Given the description of an element on the screen output the (x, y) to click on. 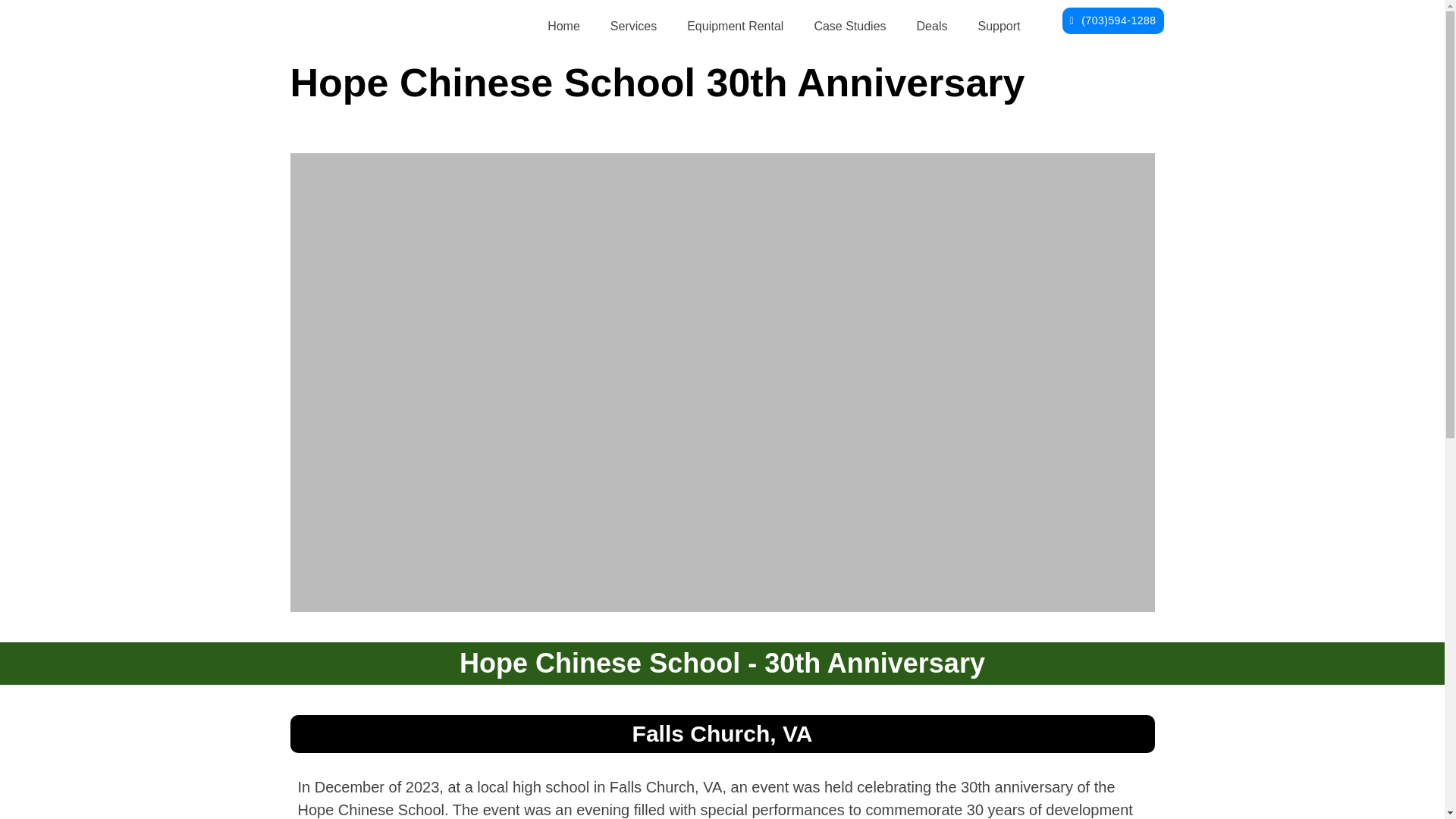
Equipment Rental (734, 26)
Home (563, 26)
Case Studies (849, 26)
Services (633, 26)
Deals (931, 26)
Support (998, 26)
